Given the description of an element on the screen output the (x, y) to click on. 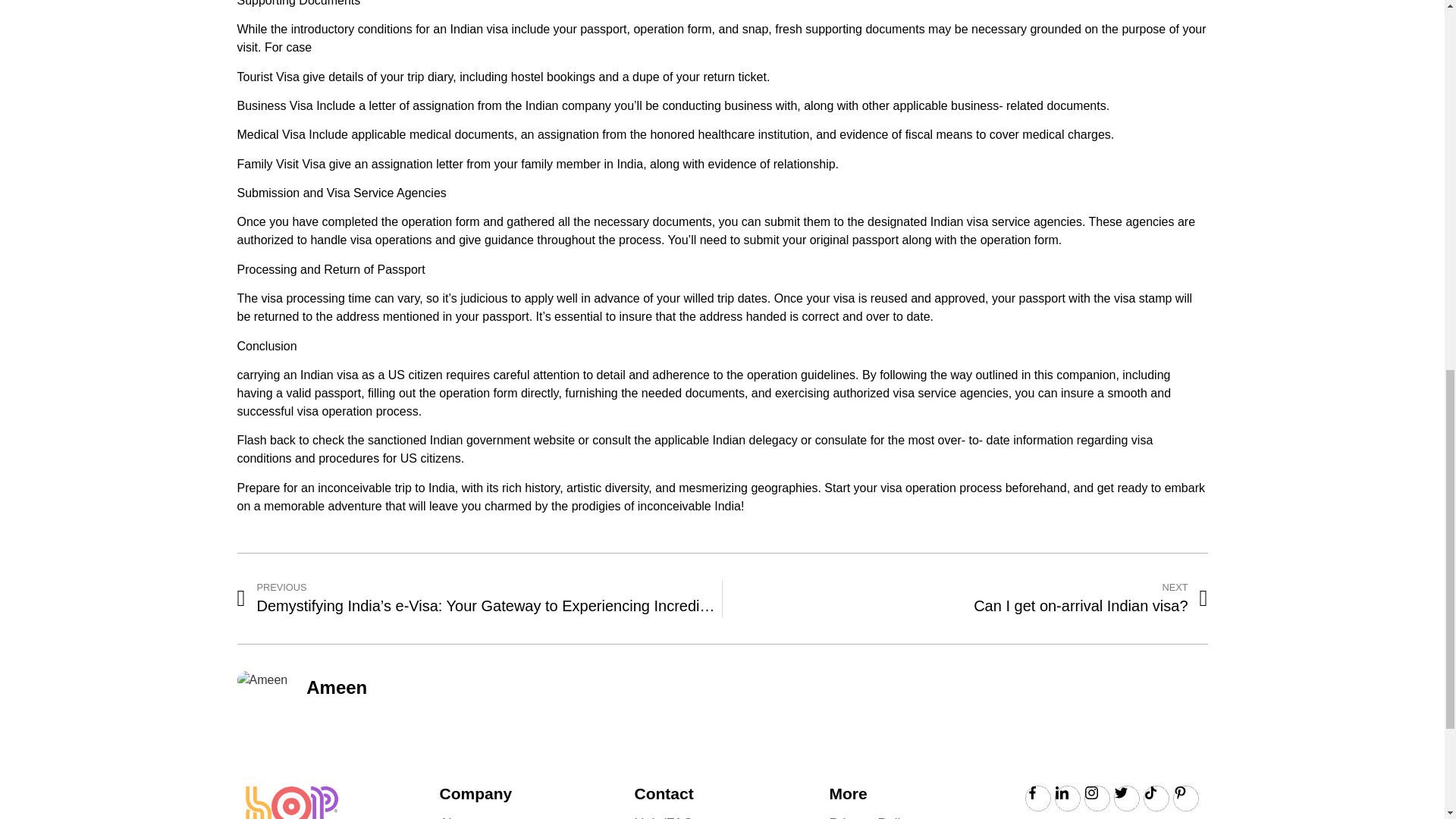
About (965, 598)
Privacy Policy (457, 817)
